Given the description of an element on the screen output the (x, y) to click on. 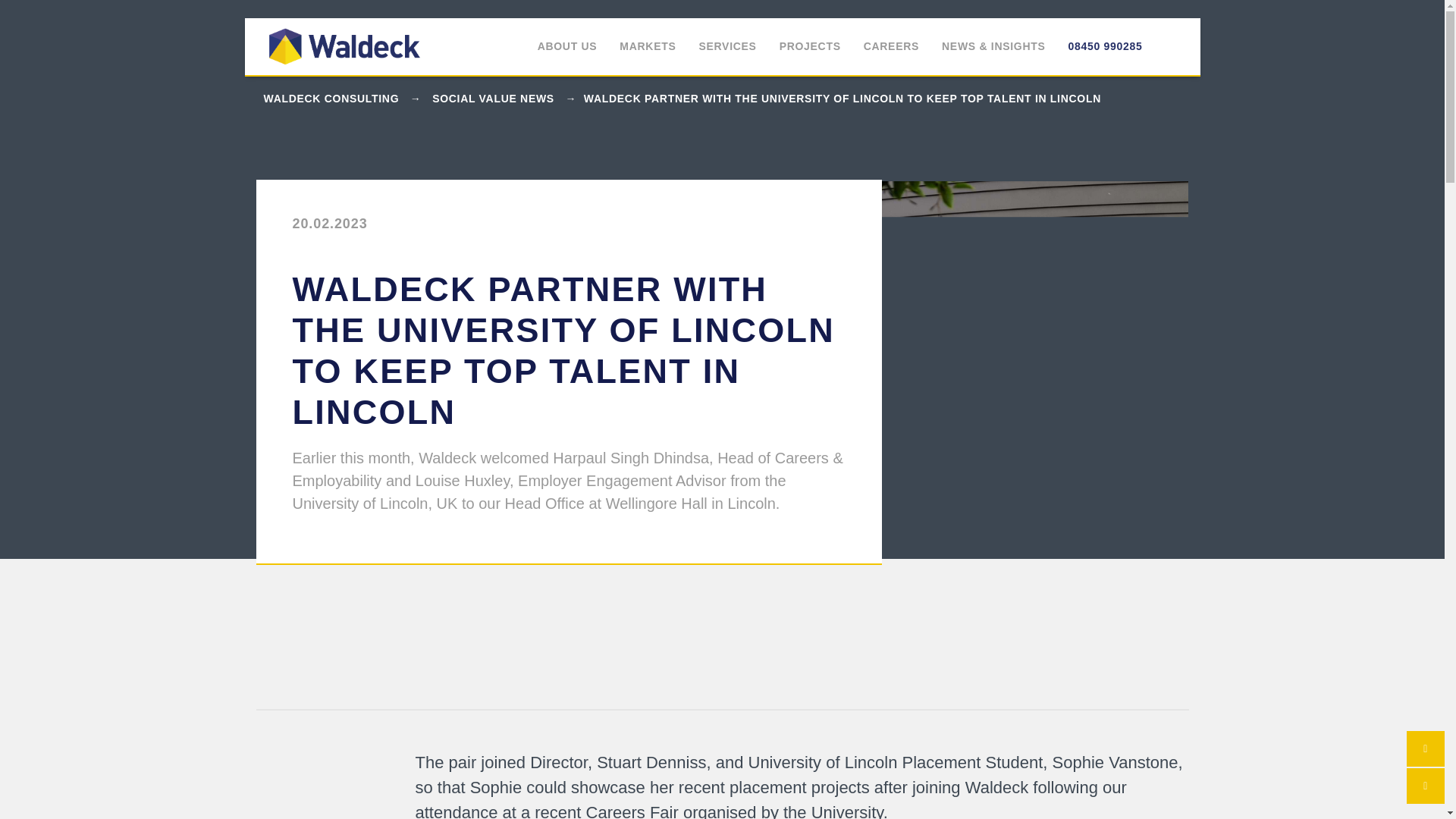
About Us (566, 46)
MARKETS (647, 46)
ABOUT US (566, 46)
